Given the description of an element on the screen output the (x, y) to click on. 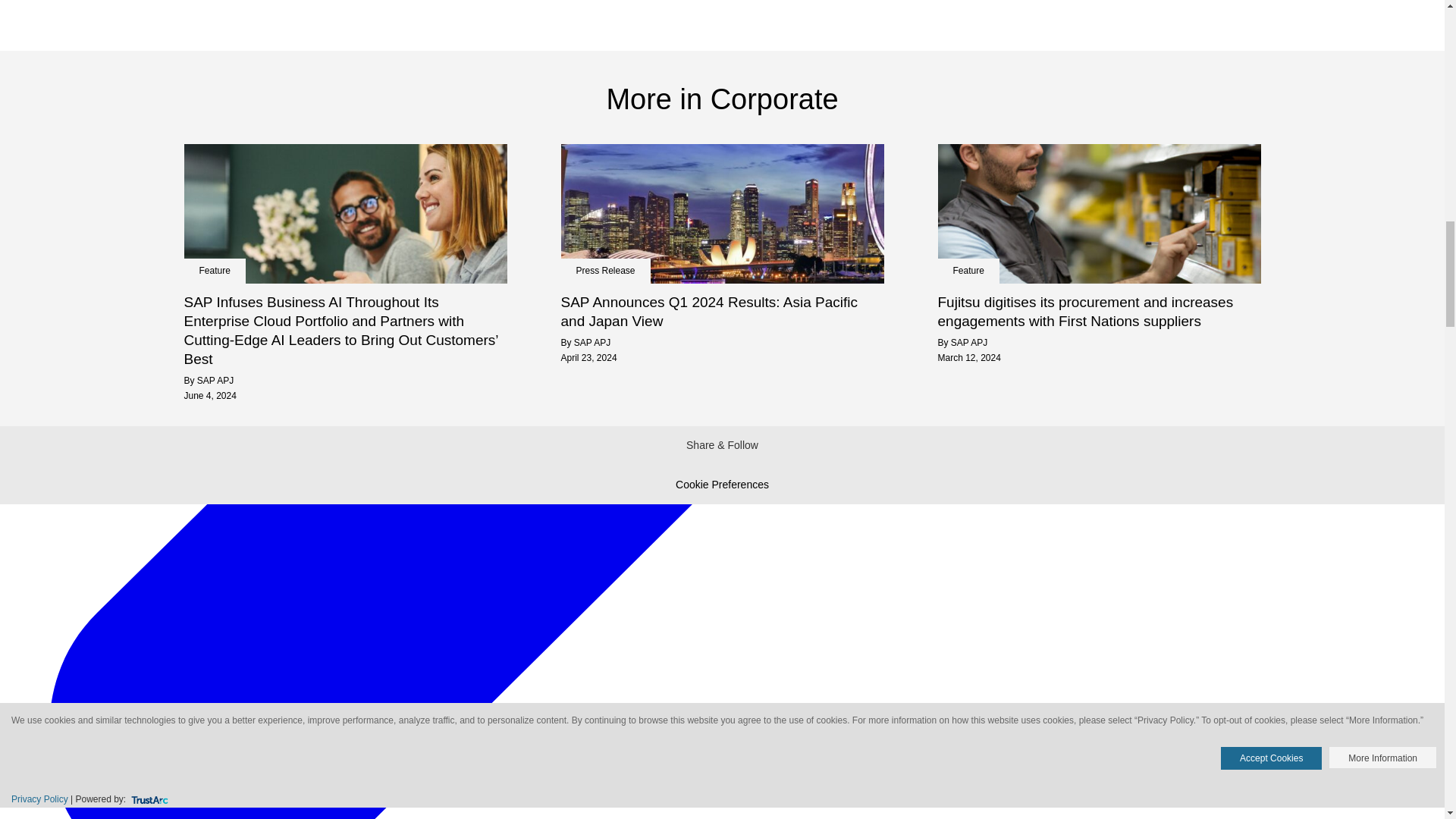
SAP Announces Q1 2024 Results: Asia Pacific and Japan View (721, 311)
Posts by SAP APJ (968, 342)
Feature (214, 270)
Cookie Preferences (721, 484)
Posts by SAP APJ (591, 342)
Posts by SAP APJ (214, 380)
SAP APJ (214, 380)
Press Release (605, 270)
SAP APJ (968, 342)
SAP APJ (591, 342)
Feature (968, 270)
